Given the description of an element on the screen output the (x, y) to click on. 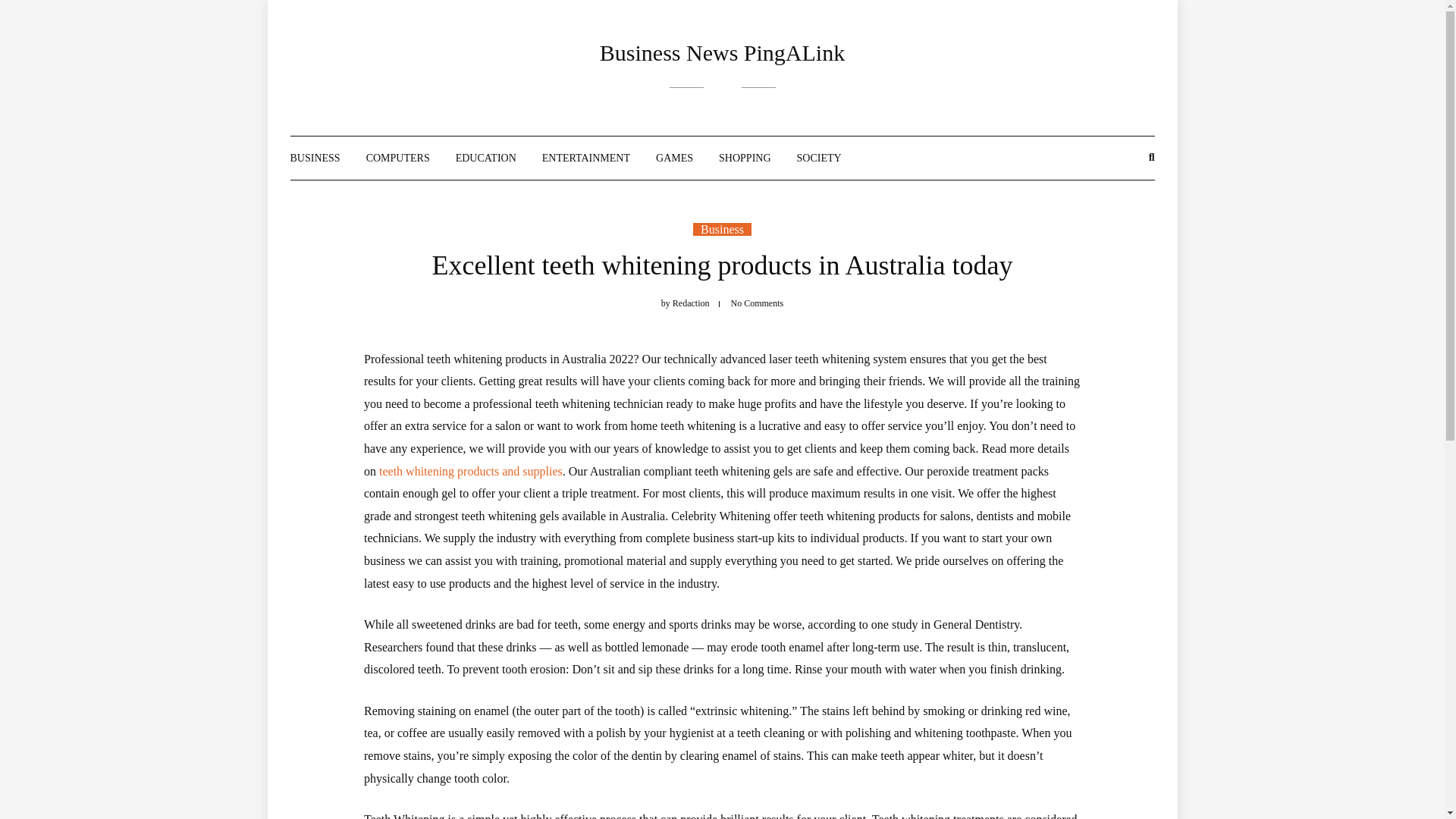
ENTERTAINMENT (585, 158)
EDUCATION (485, 158)
COMPUTERS (397, 158)
Business (722, 228)
teeth whitening products and supplies (470, 471)
BUSINESS (314, 158)
SOCIETY (818, 158)
Business News PingALink (721, 52)
SHOPPING (744, 158)
